Given the description of an element on the screen output the (x, y) to click on. 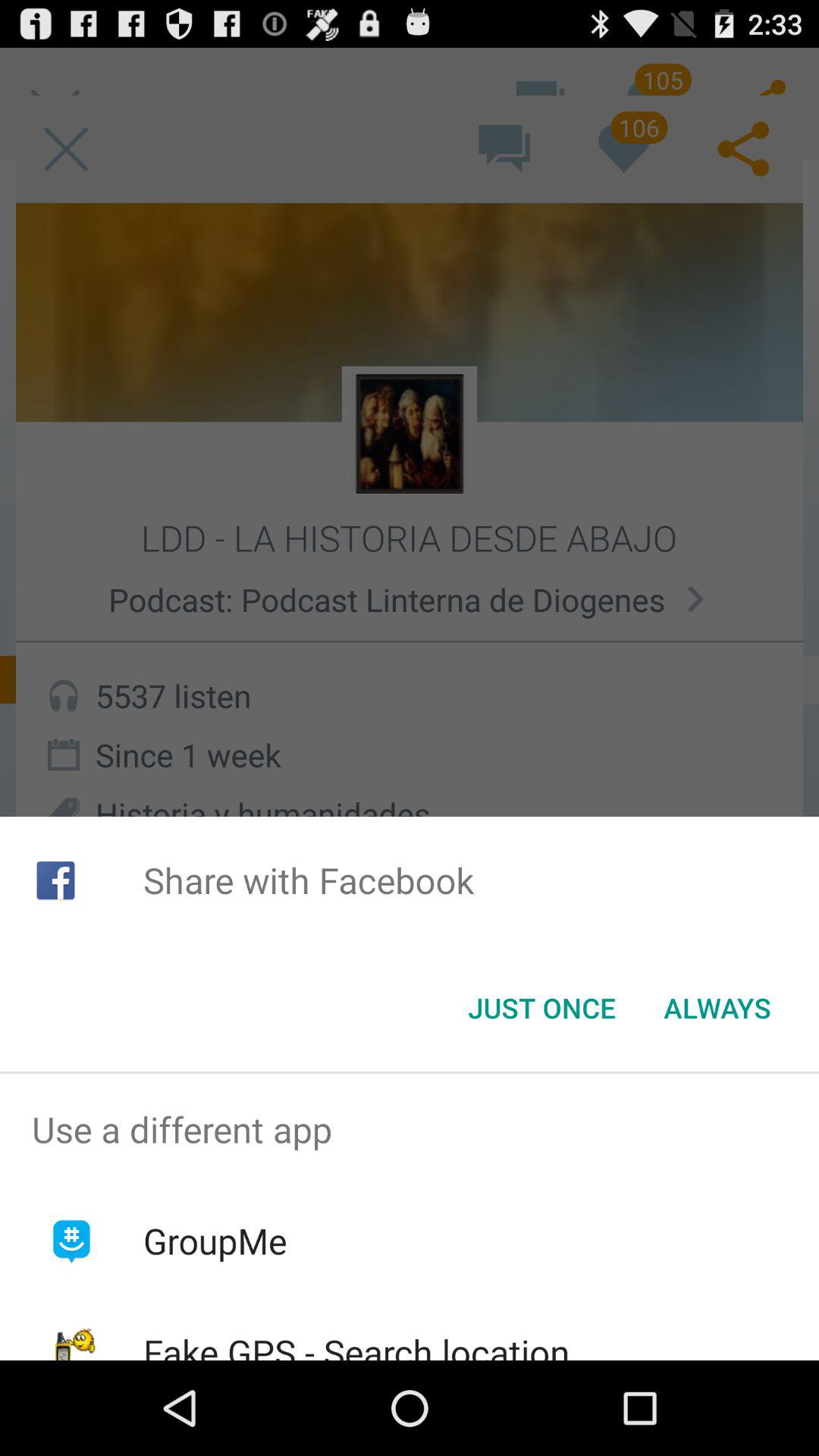
click button to the right of the just once icon (717, 1007)
